Given the description of an element on the screen output the (x, y) to click on. 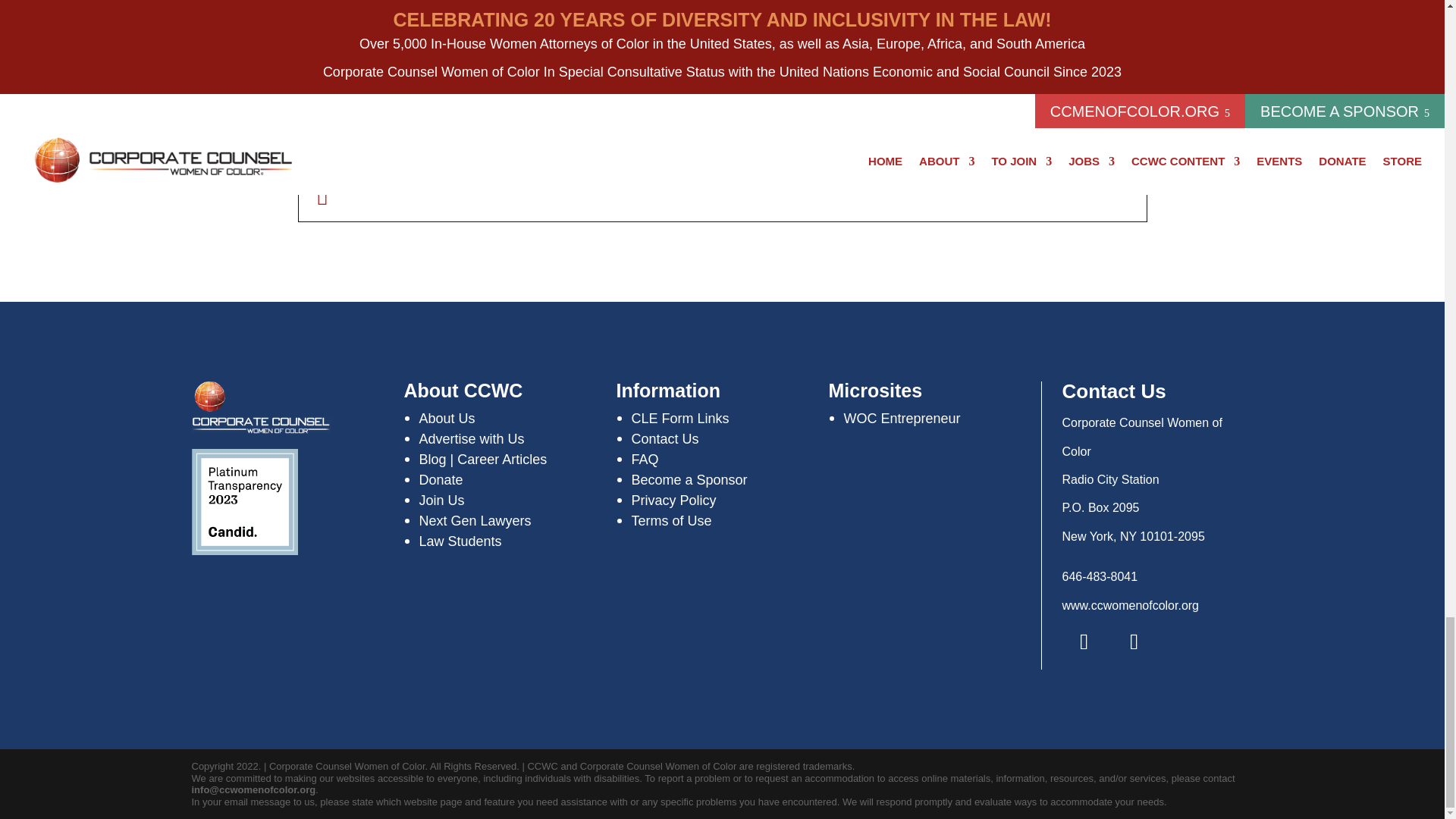
logo-footer (260, 407)
E-mail (323, 199)
Platinum Transparency 2023 (243, 501)
Follow on Instagram (1134, 641)
